Given the description of an element on the screen output the (x, y) to click on. 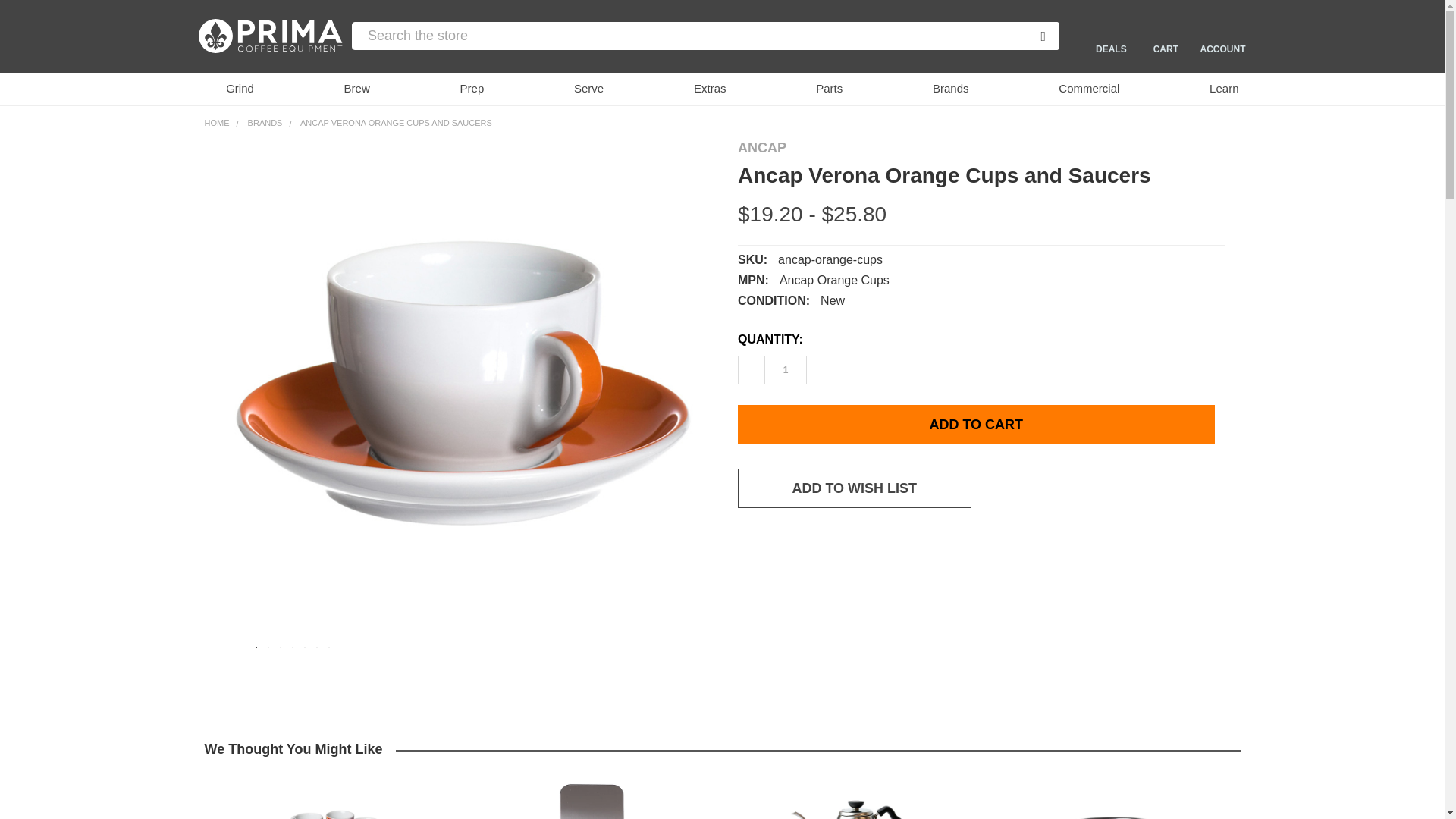
Search (1030, 35)
1 (785, 370)
ACCOUNT (1221, 35)
Brew (347, 88)
Search (1030, 35)
User (1221, 29)
Prima Coffee Equipment (270, 35)
Grind (229, 88)
Add to Cart (976, 424)
